Given the description of an element on the screen output the (x, y) to click on. 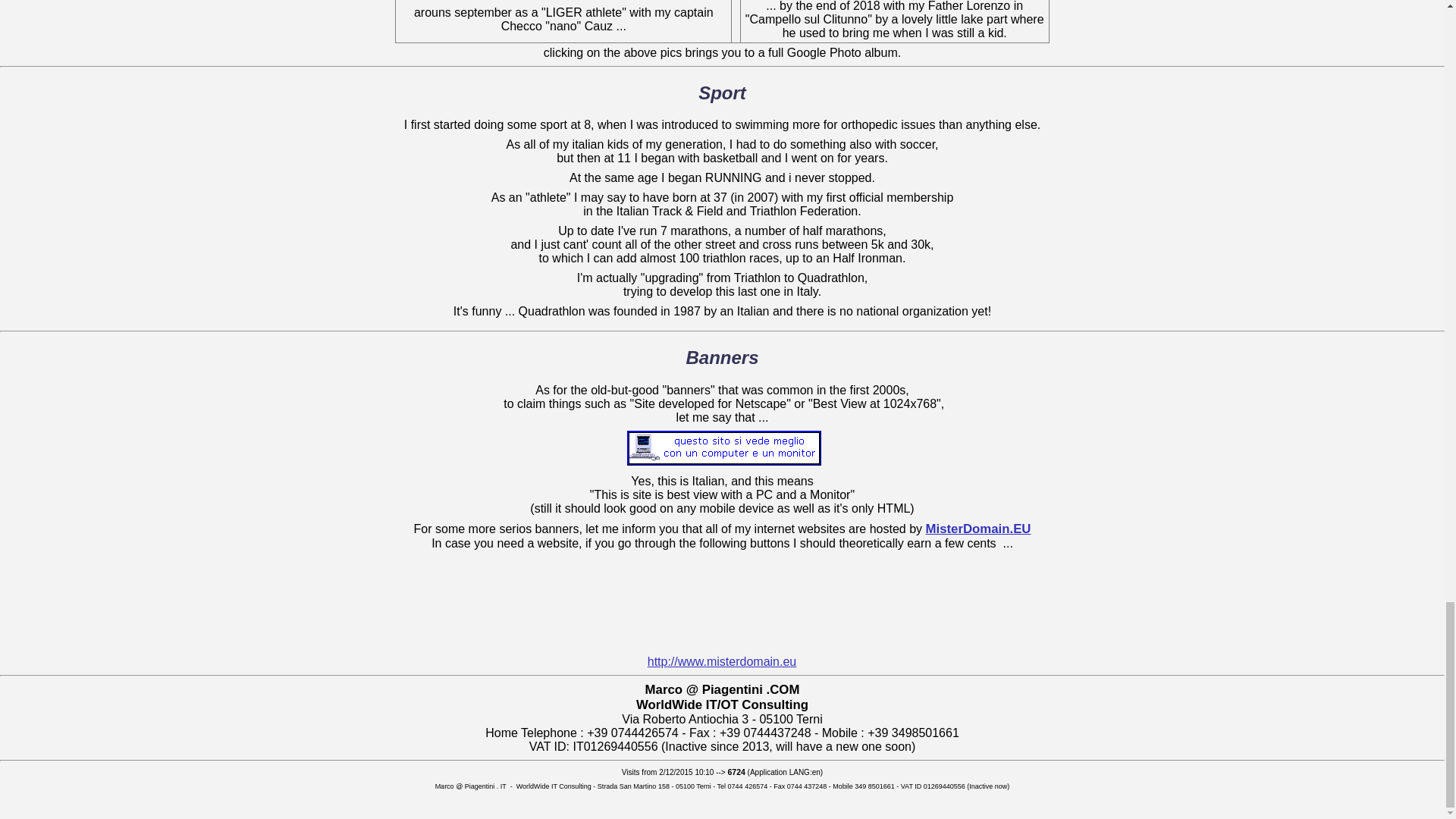
MisterDomain.EU (721, 586)
MisterDomain.EU (721, 632)
